Given the description of an element on the screen output the (x, y) to click on. 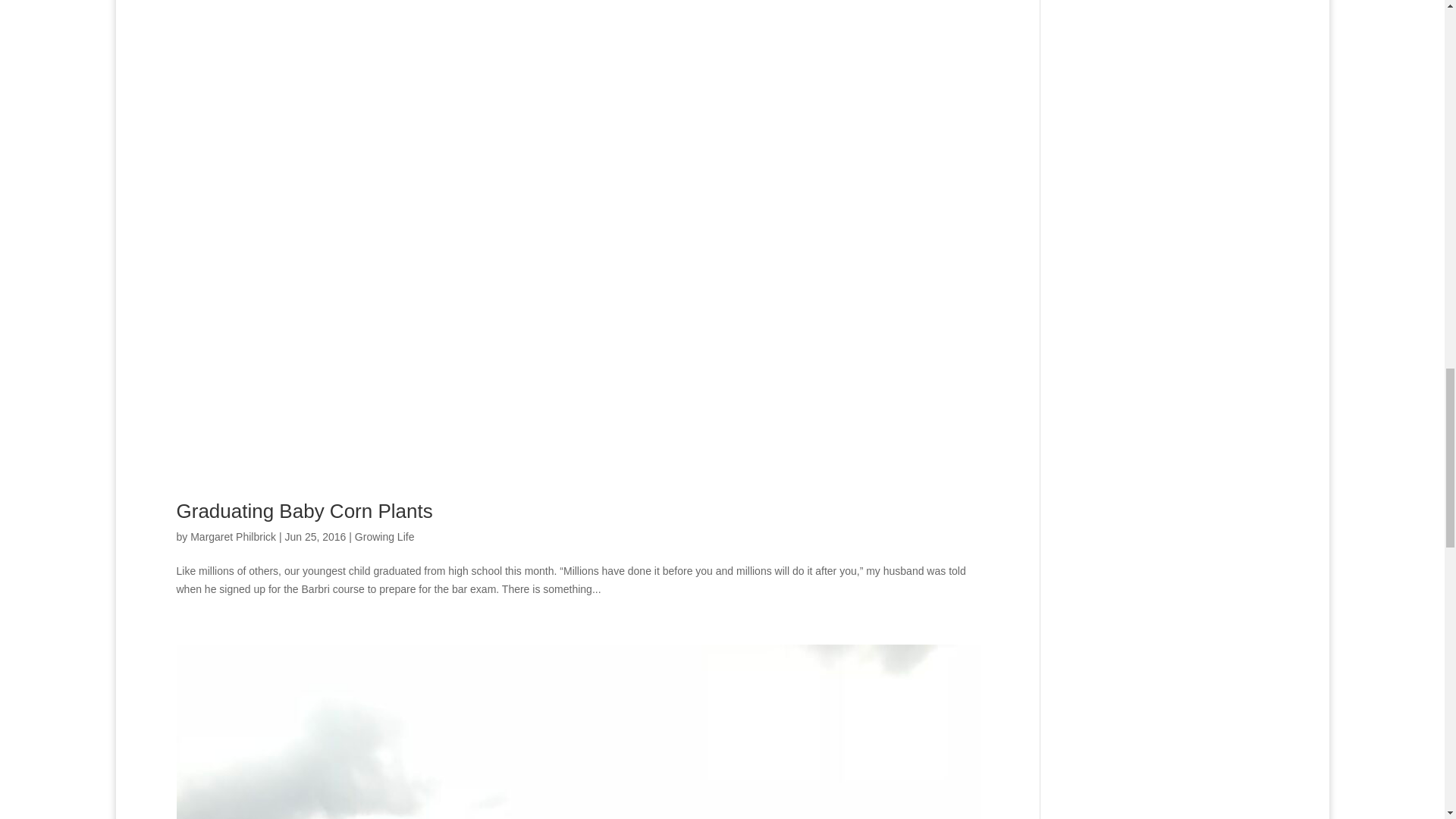
Graduating Baby Corn Plants (304, 510)
Posts by Margaret Philbrick (233, 536)
